Given the description of an element on the screen output the (x, y) to click on. 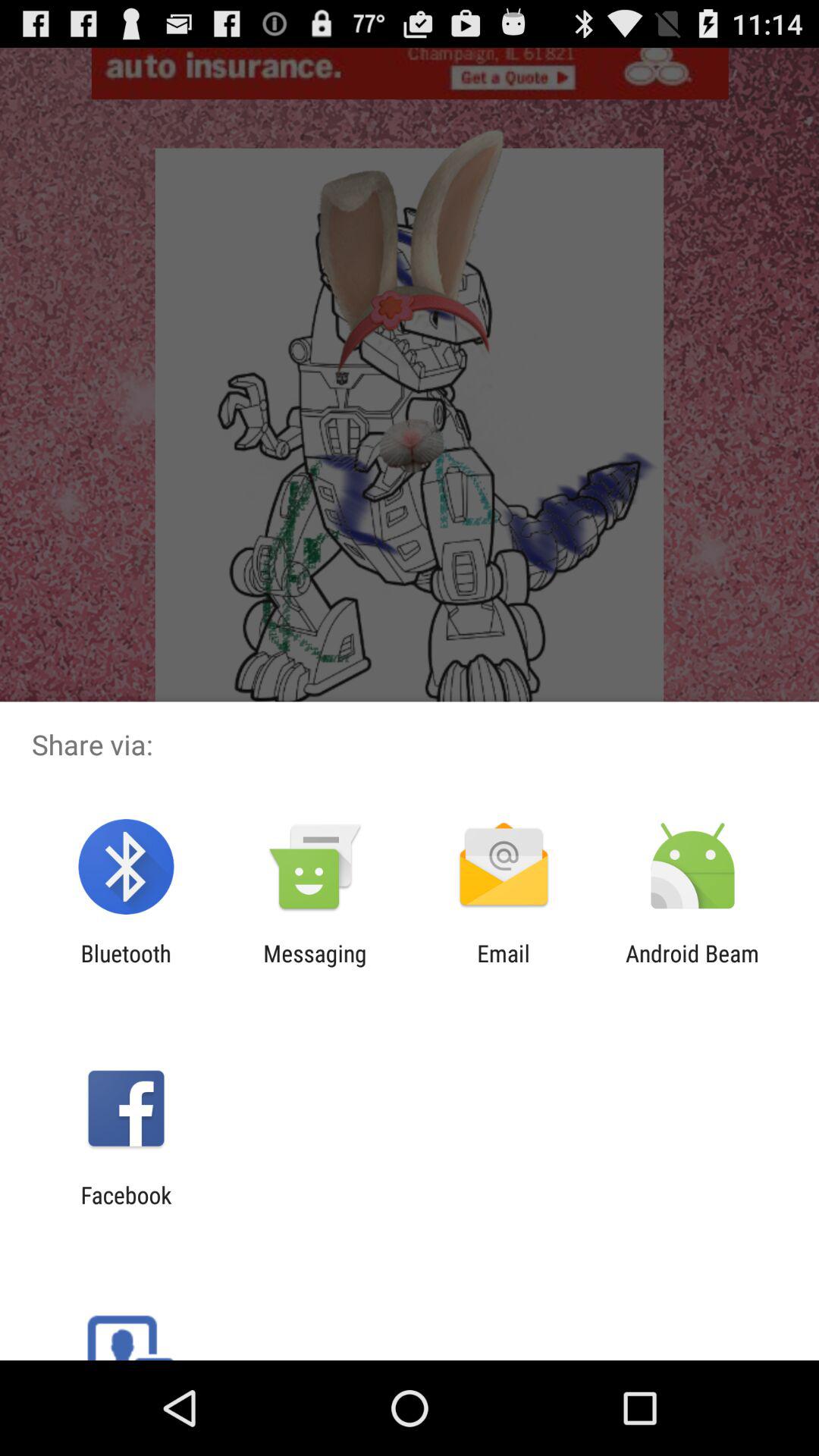
choose android beam item (692, 966)
